Given the description of an element on the screen output the (x, y) to click on. 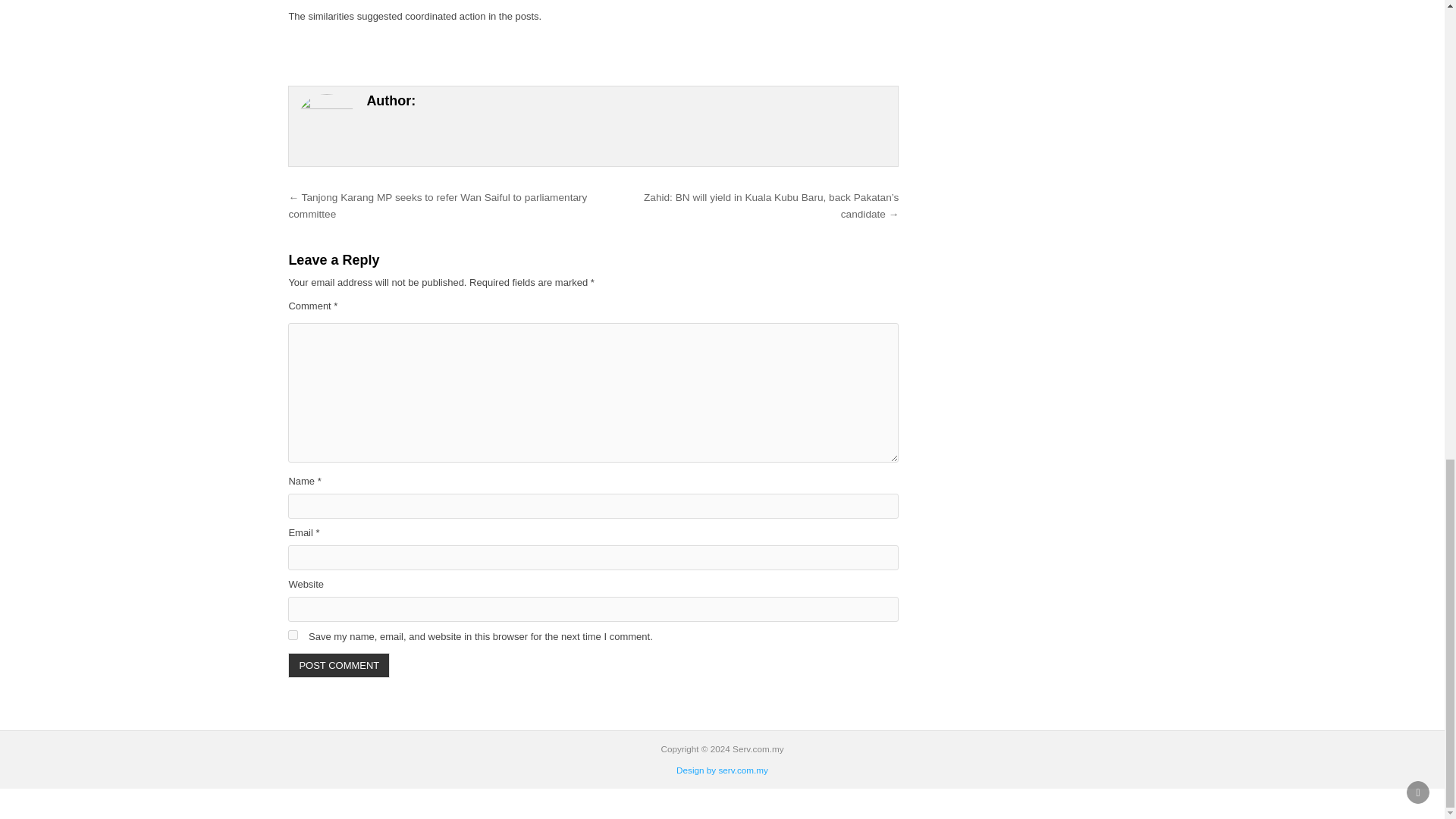
Post Comment (339, 665)
Design by serv.com.my (722, 769)
Post Comment (339, 665)
yes (293, 634)
